Given the description of an element on the screen output the (x, y) to click on. 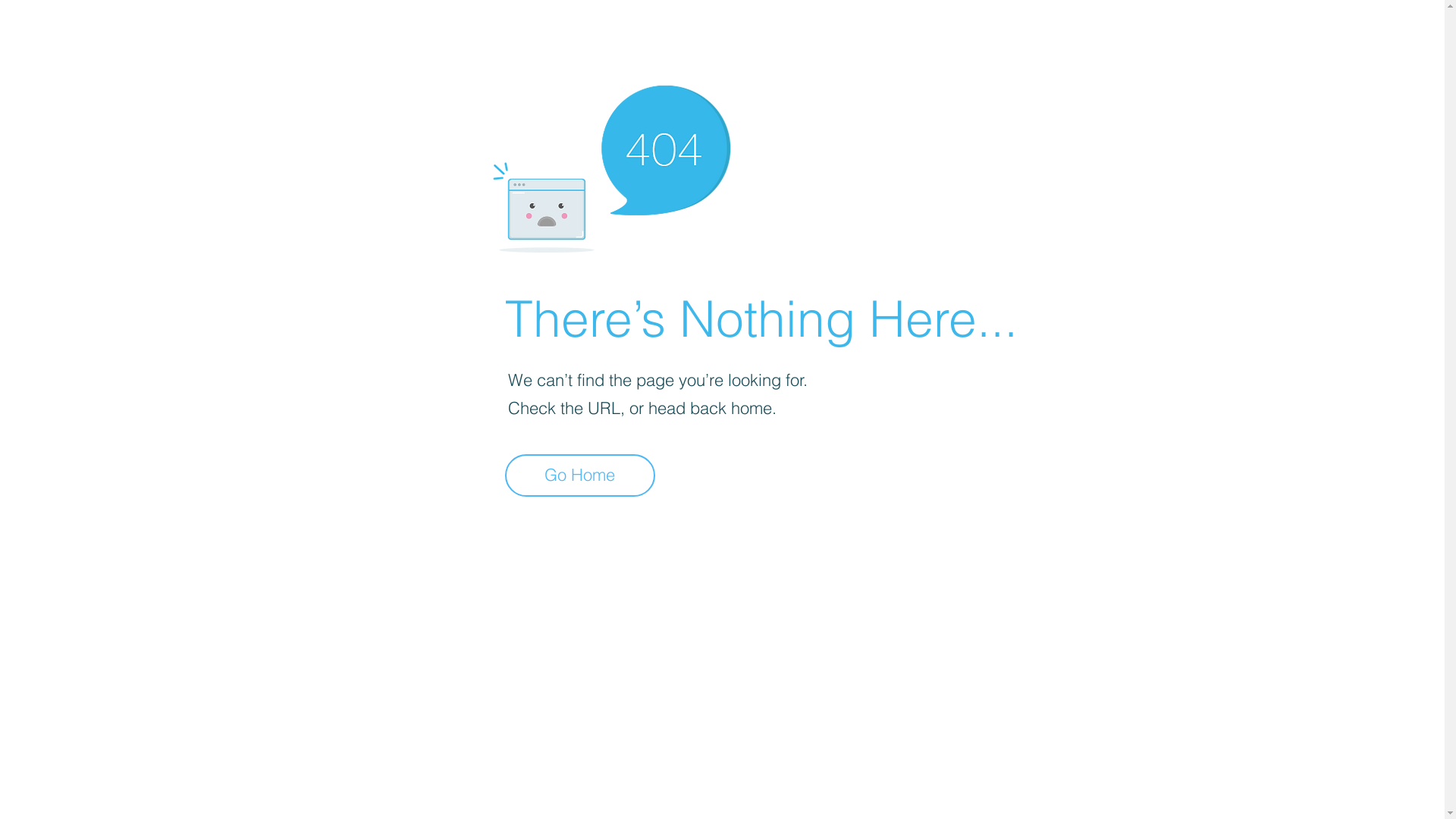
Go Home Element type: text (580, 475)
404-icon_2.png Element type: hover (610, 164)
